Given the description of an element on the screen output the (x, y) to click on. 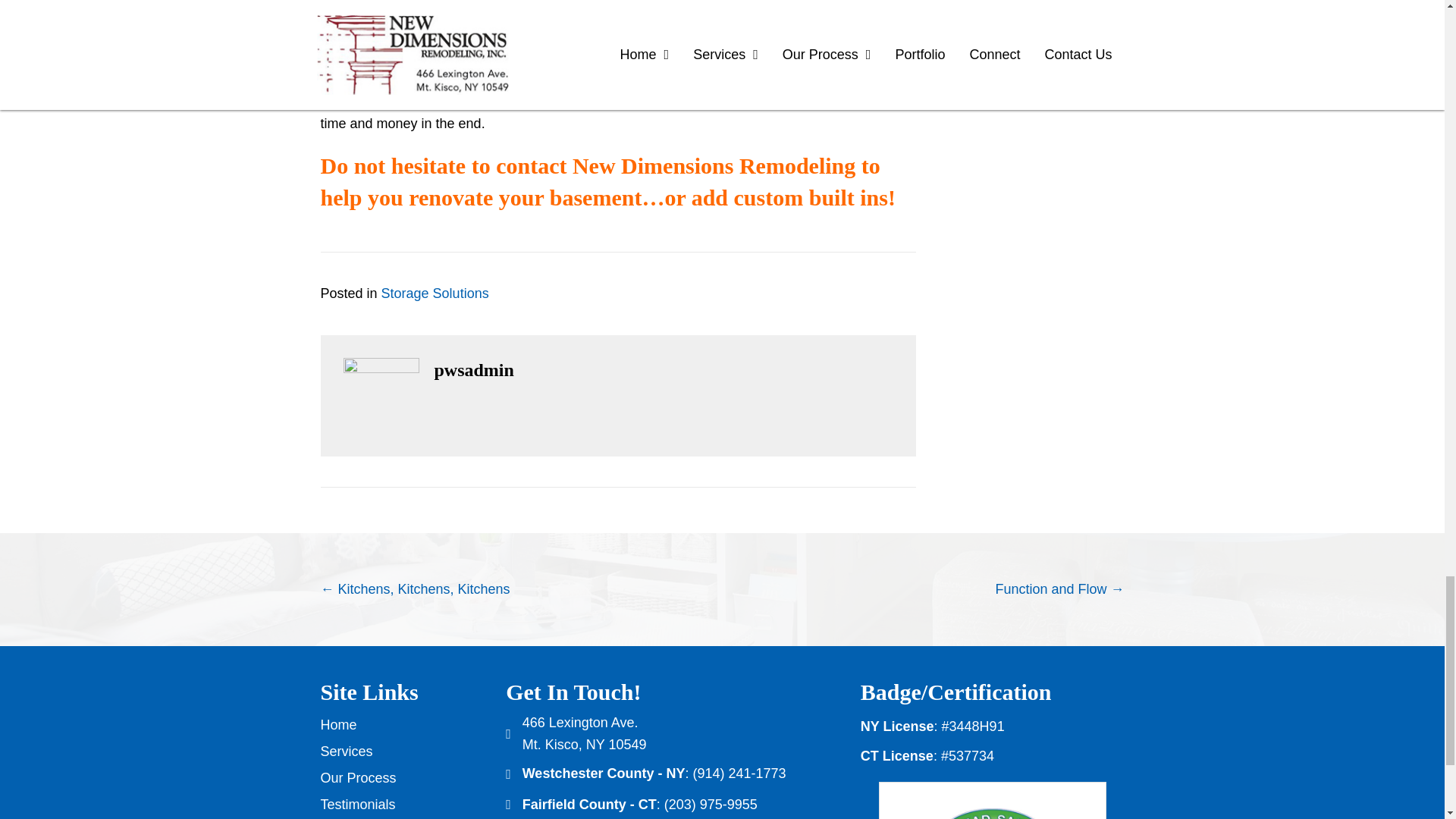
Storage Solutions (435, 293)
